Given the description of an element on the screen output the (x, y) to click on. 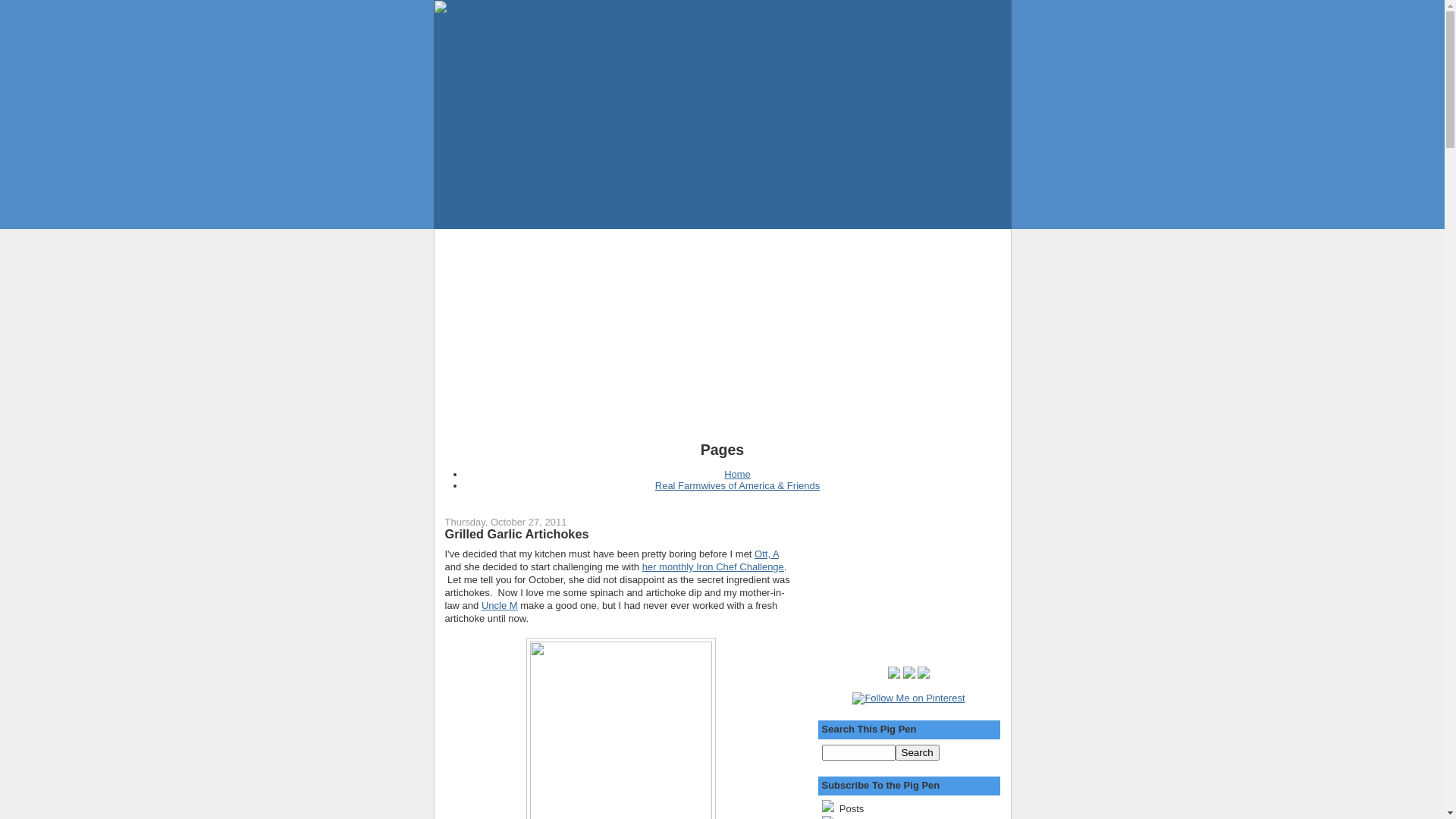
search Element type: hover (858, 752)
her monthly Iron Chef Challenge Element type: text (713, 566)
search Element type: hover (916, 752)
Advertisement Element type: hover (897, 576)
Posts Element type: text (909, 807)
Real Farmwives of America & Friends Element type: text (737, 485)
Posts Element type: text (849, 808)
Ott, A Element type: text (766, 553)
Search Element type: text (916, 752)
Advertisement Element type: hover (721, 335)
Uncle M Element type: text (499, 605)
Home Element type: text (737, 474)
